Given the description of an element on the screen output the (x, y) to click on. 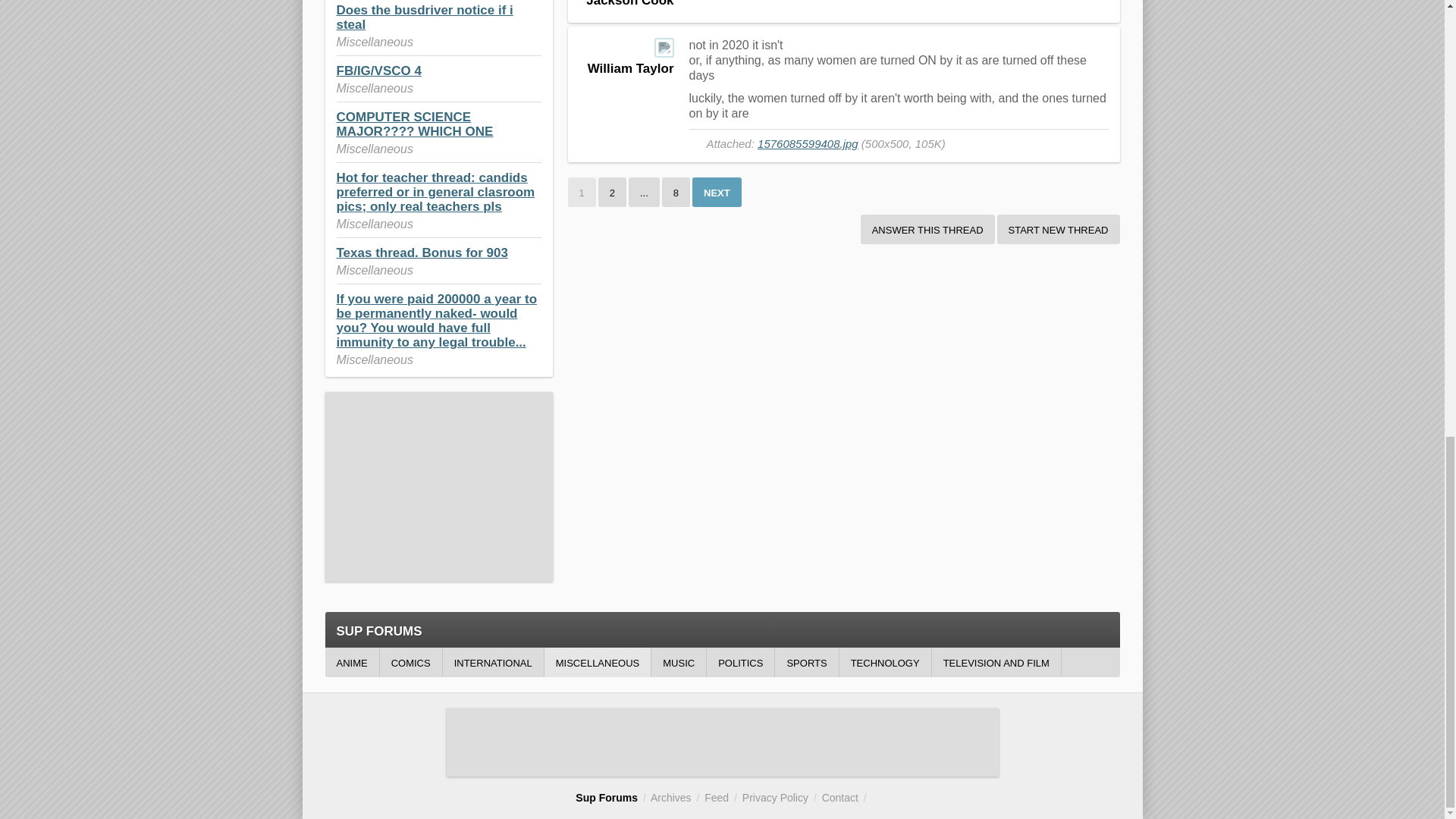
START NEW THREAD (1058, 229)
Does the busdriver notice if i steal (424, 17)
1576085599408.jpg (808, 143)
8 (676, 192)
2 (612, 192)
NEXT (717, 192)
ANSWER THIS THREAD (927, 229)
... (643, 192)
Texas thread. Bonus for 903 (422, 252)
